Given the description of an element on the screen output the (x, y) to click on. 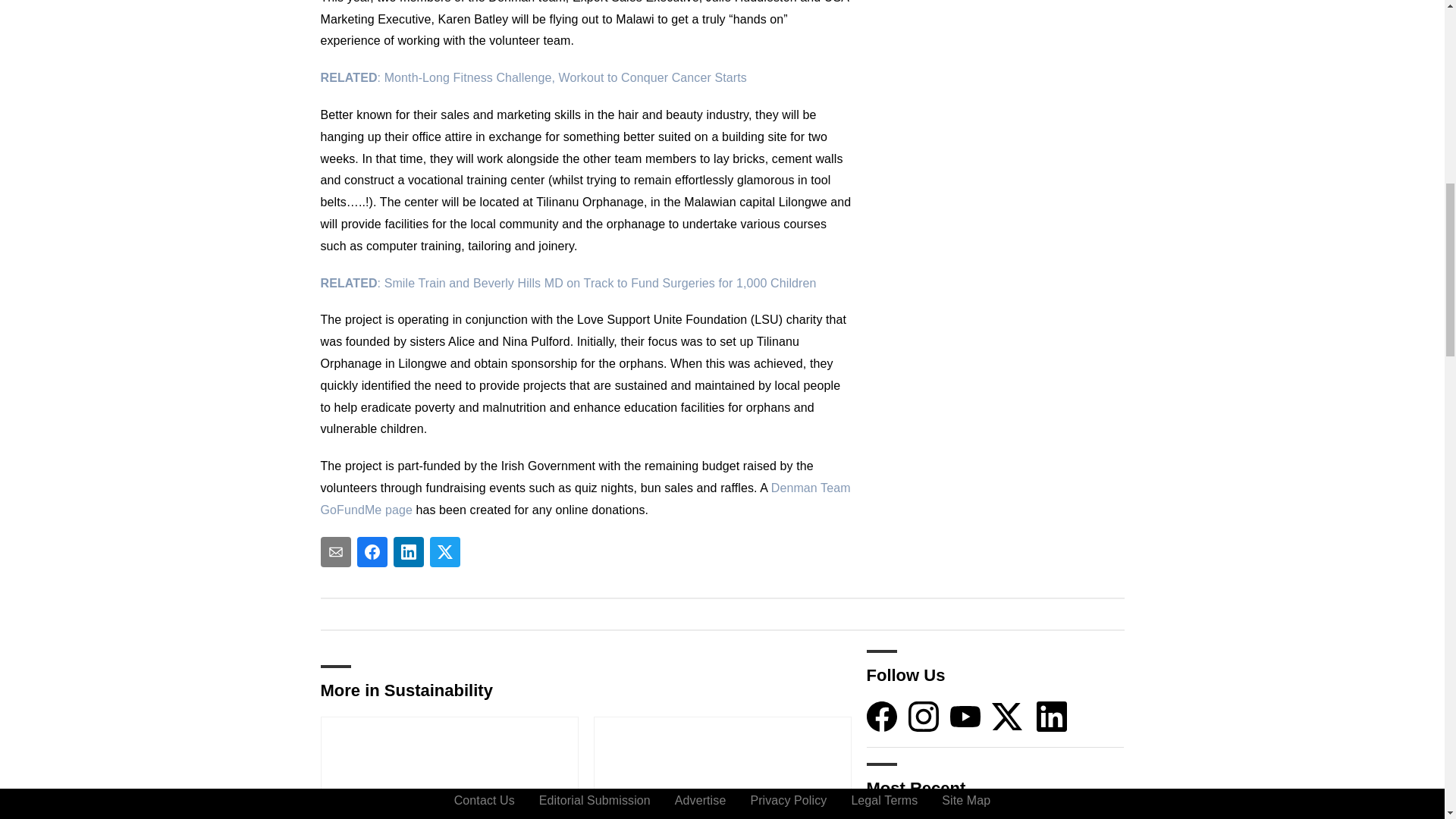
Share To facebook (371, 552)
YouTube icon (964, 716)
LinkedIn icon (1051, 716)
Share To email (335, 552)
Share To twitter (444, 552)
Facebook icon (881, 716)
Twitter X icon (1006, 716)
Share To linkedin (408, 552)
Instagram icon (923, 716)
